Given the description of an element on the screen output the (x, y) to click on. 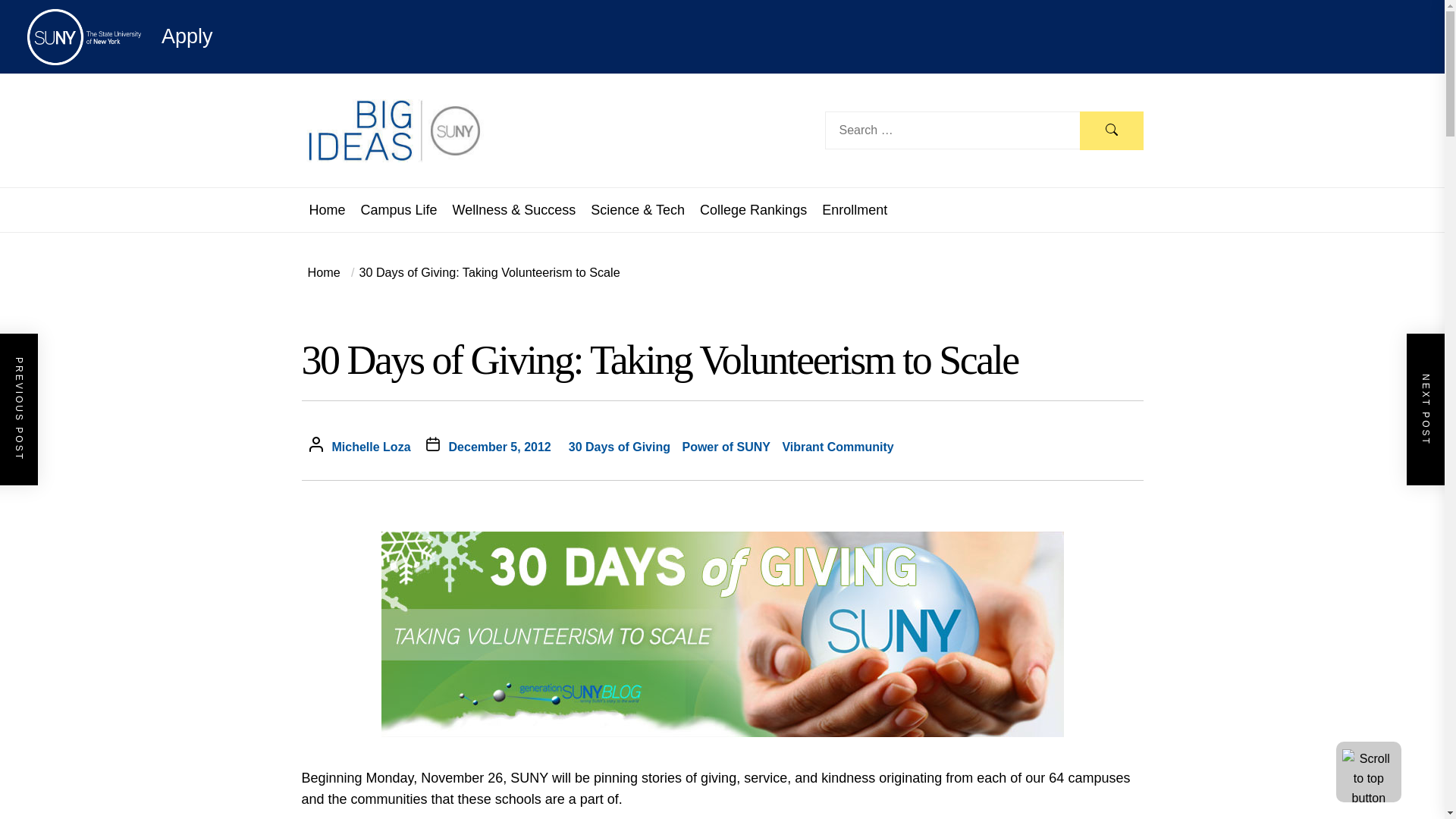
Vibrant Community (836, 446)
Home (327, 210)
December 5, 2012 (499, 446)
30 Days of Giving: Taking Volunteerism to Scale (483, 272)
Enrollment (854, 210)
Campus Life (399, 210)
Home (323, 272)
30 Days of Giving (619, 446)
Power of SUNY (725, 446)
College Rankings (753, 210)
